Given the description of an element on the screen output the (x, y) to click on. 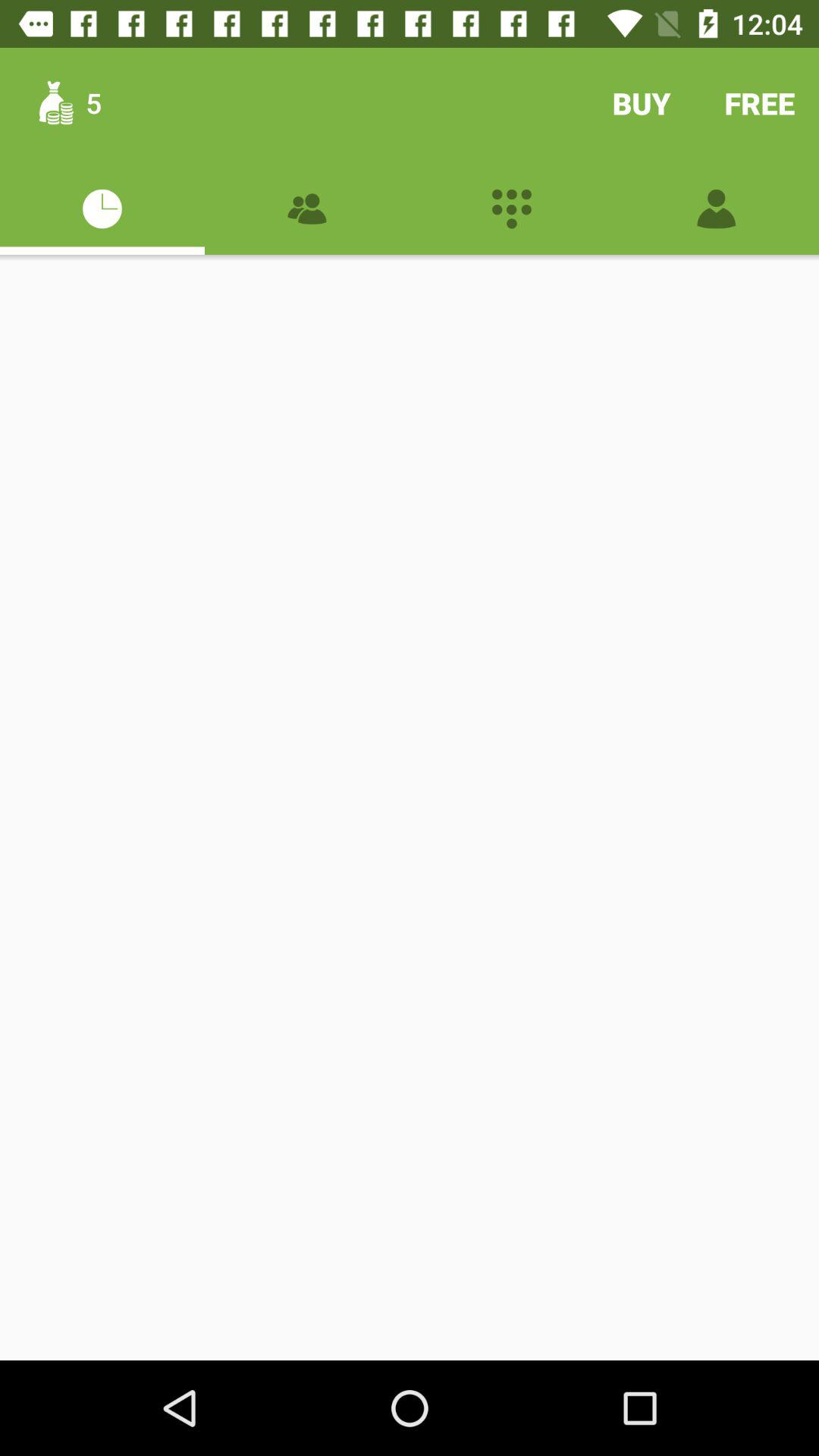
press the item at the center (409, 807)
